Given the description of an element on the screen output the (x, y) to click on. 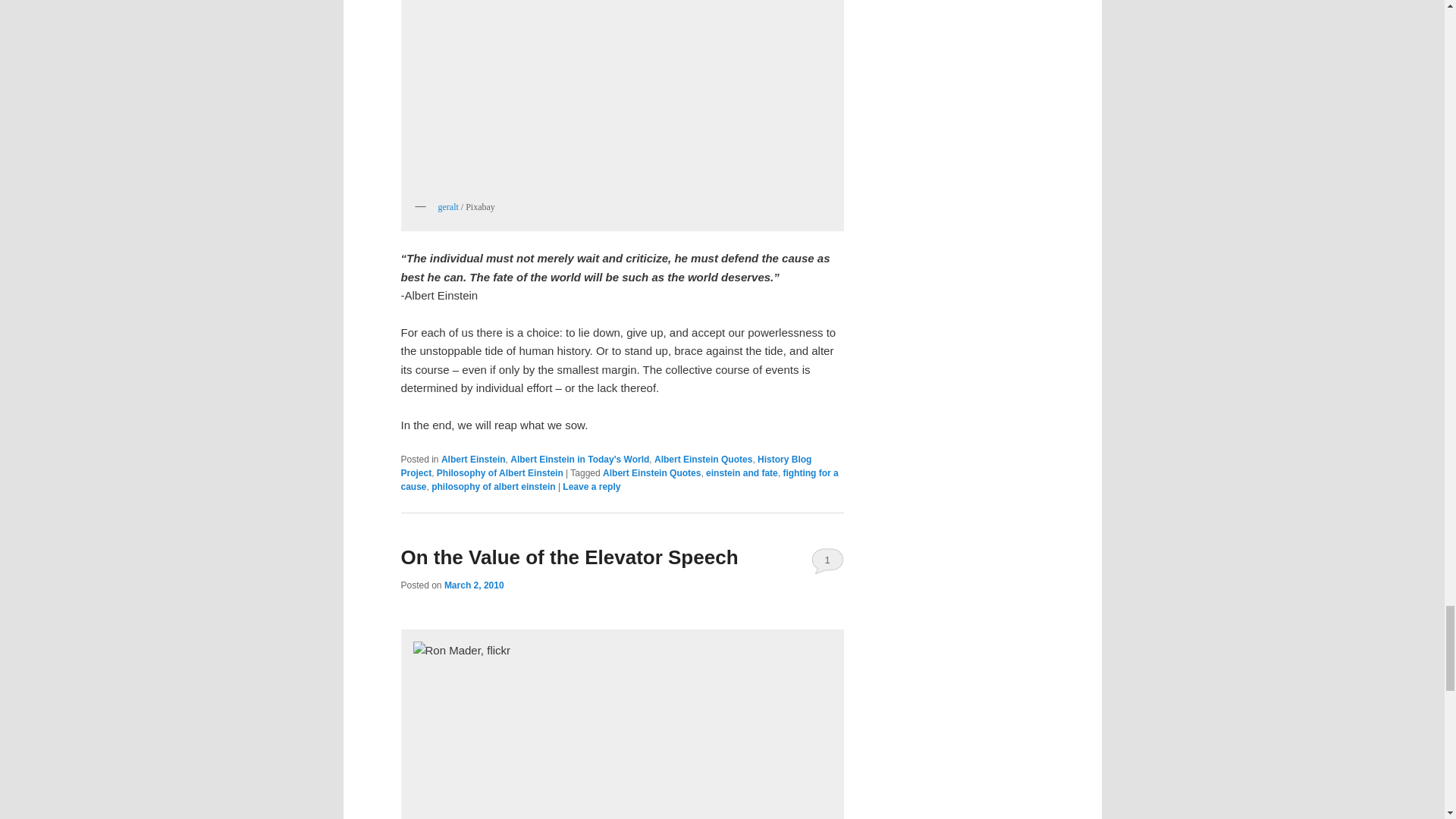
7:41 pm (473, 584)
